Given the description of an element on the screen output the (x, y) to click on. 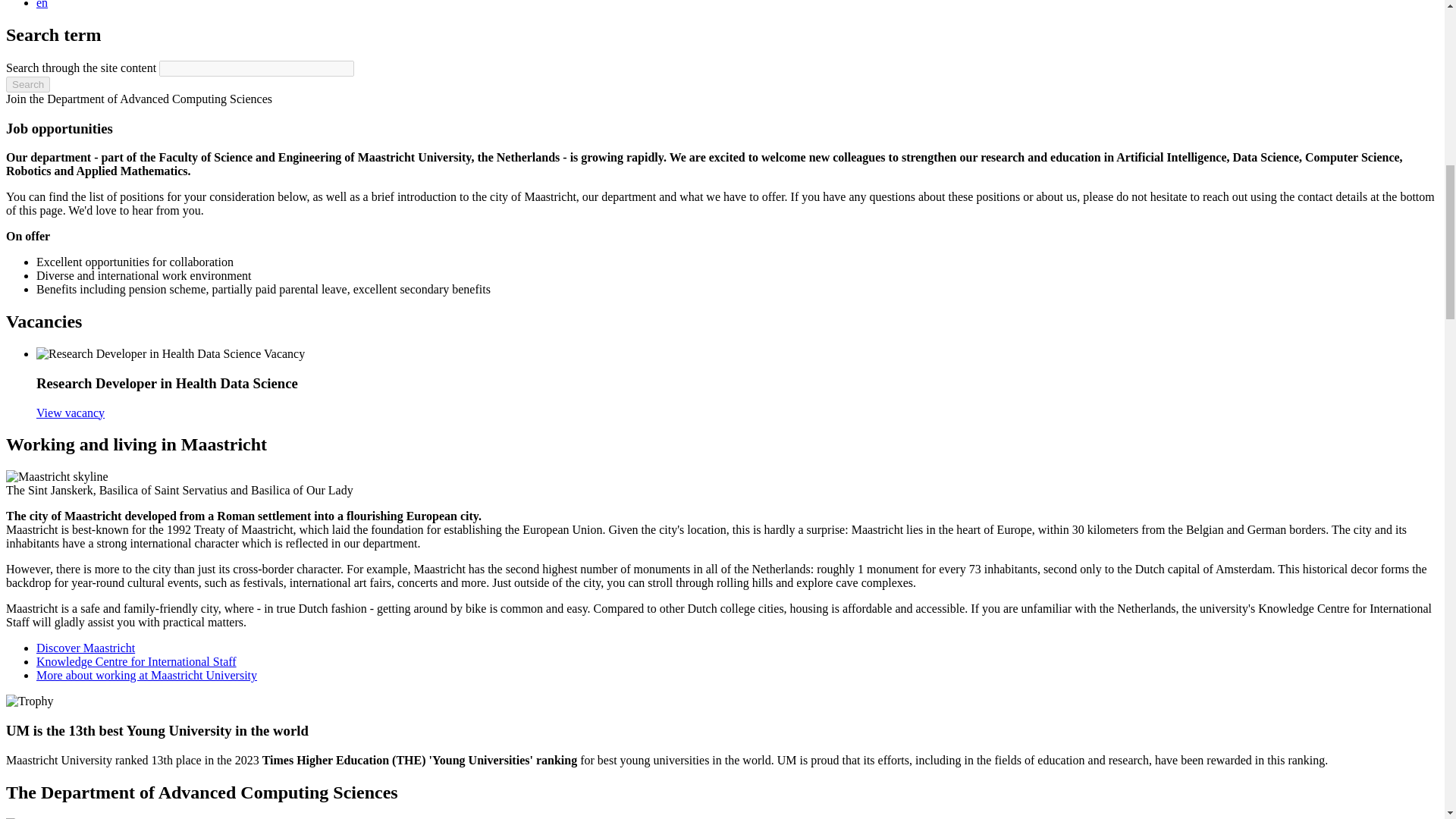
Search (27, 84)
en (42, 4)
Knowledge Centre for International Staff (135, 661)
View vacancy (70, 412)
Discover Maastricht (85, 647)
Search (27, 84)
More about working at Maastricht University (146, 675)
